Given the description of an element on the screen output the (x, y) to click on. 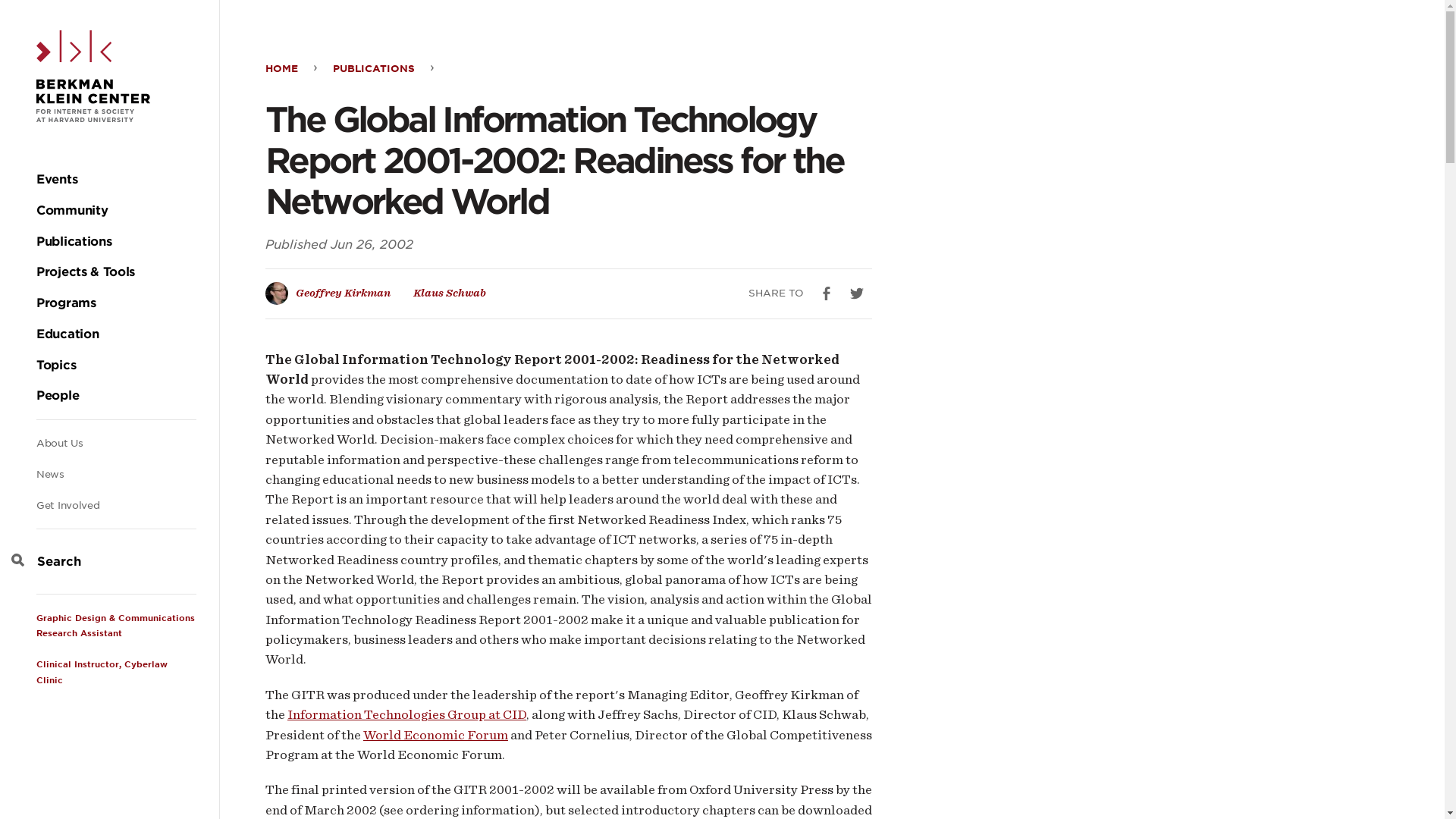
Search (61, 25)
Events (56, 179)
Geoffrey Kirkman (342, 293)
Education (67, 334)
PUBLICATIONS (373, 68)
News (50, 473)
Enter the terms you wish to search for. (114, 561)
Topics (55, 365)
Get Involved (67, 505)
Clinical Instructor, Cyberlaw Clinic (101, 672)
